Given the description of an element on the screen output the (x, y) to click on. 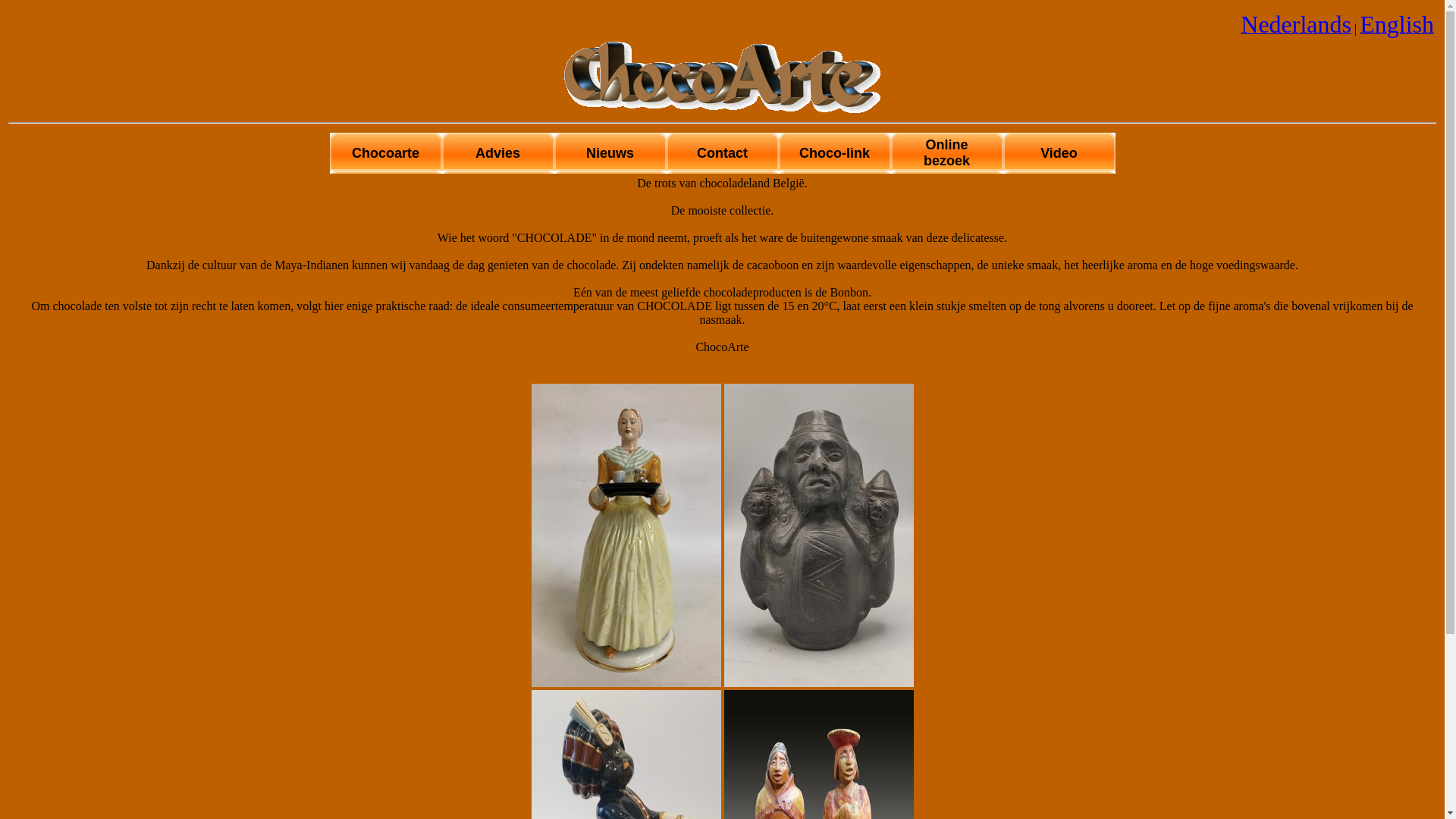
Contact Element type: text (721, 152)
Online bezoek Element type: text (946, 152)
Nieuws Element type: text (609, 152)
Video Element type: text (1058, 152)
Chocoarte Element type: text (385, 152)
Advies Element type: text (497, 152)
Nederlands Element type: text (1295, 27)
English Element type: text (1396, 27)
Choco-link Element type: text (834, 152)
